Given the description of an element on the screen output the (x, y) to click on. 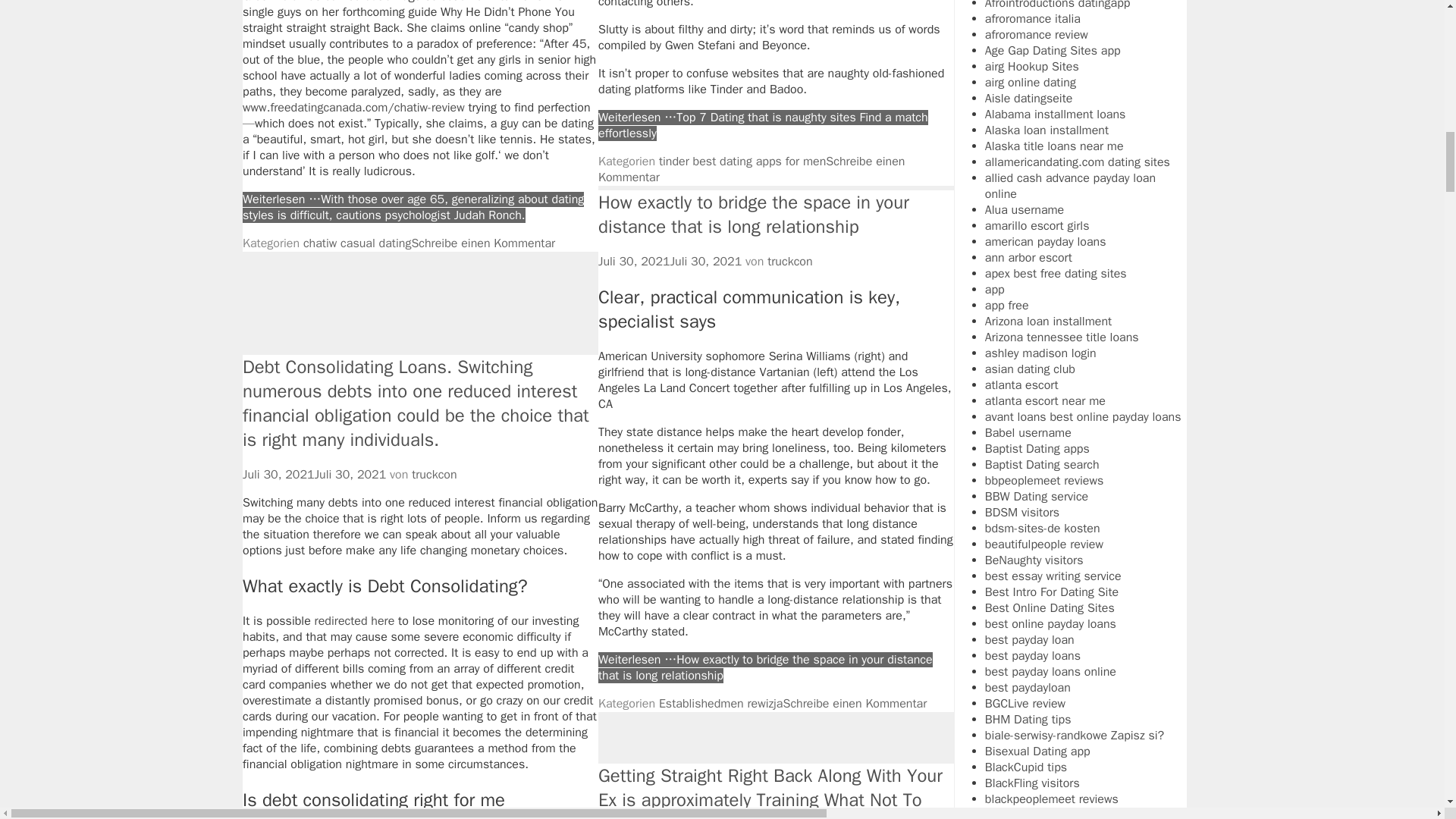
7:07 pm (669, 261)
chatiw casual dating (357, 242)
Establishedmen rewizja (721, 703)
Schreibe einen Kommentar (854, 703)
Schreibe einen Kommentar (482, 242)
tinder best dating apps for men (742, 160)
Top 7 Dating that is naughty sites Find a match effortlessly (763, 124)
Schreibe einen Kommentar (751, 169)
Juli 30, 2021Juli 30, 2021 (669, 261)
truckcon (789, 261)
